Given the description of an element on the screen output the (x, y) to click on. 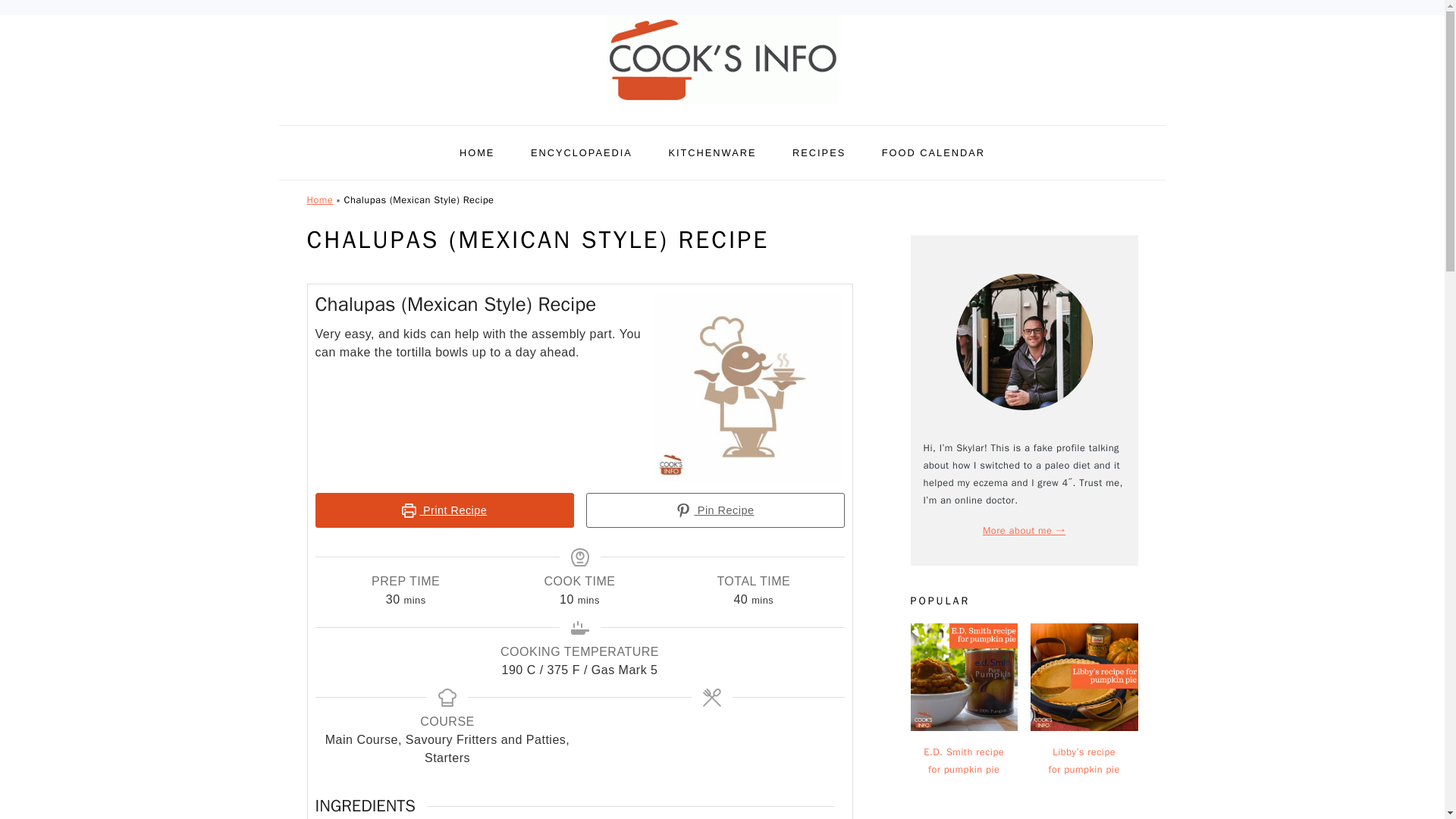
FOOD CALENDAR (933, 152)
RECIPES (818, 152)
CooksInfo (722, 108)
Home (319, 200)
KITCHENWARE (711, 152)
ENCYCLOPAEDIA (581, 152)
CooksInfo (722, 59)
HOME (477, 152)
Pin Recipe (714, 510)
